Given the description of an element on the screen output the (x, y) to click on. 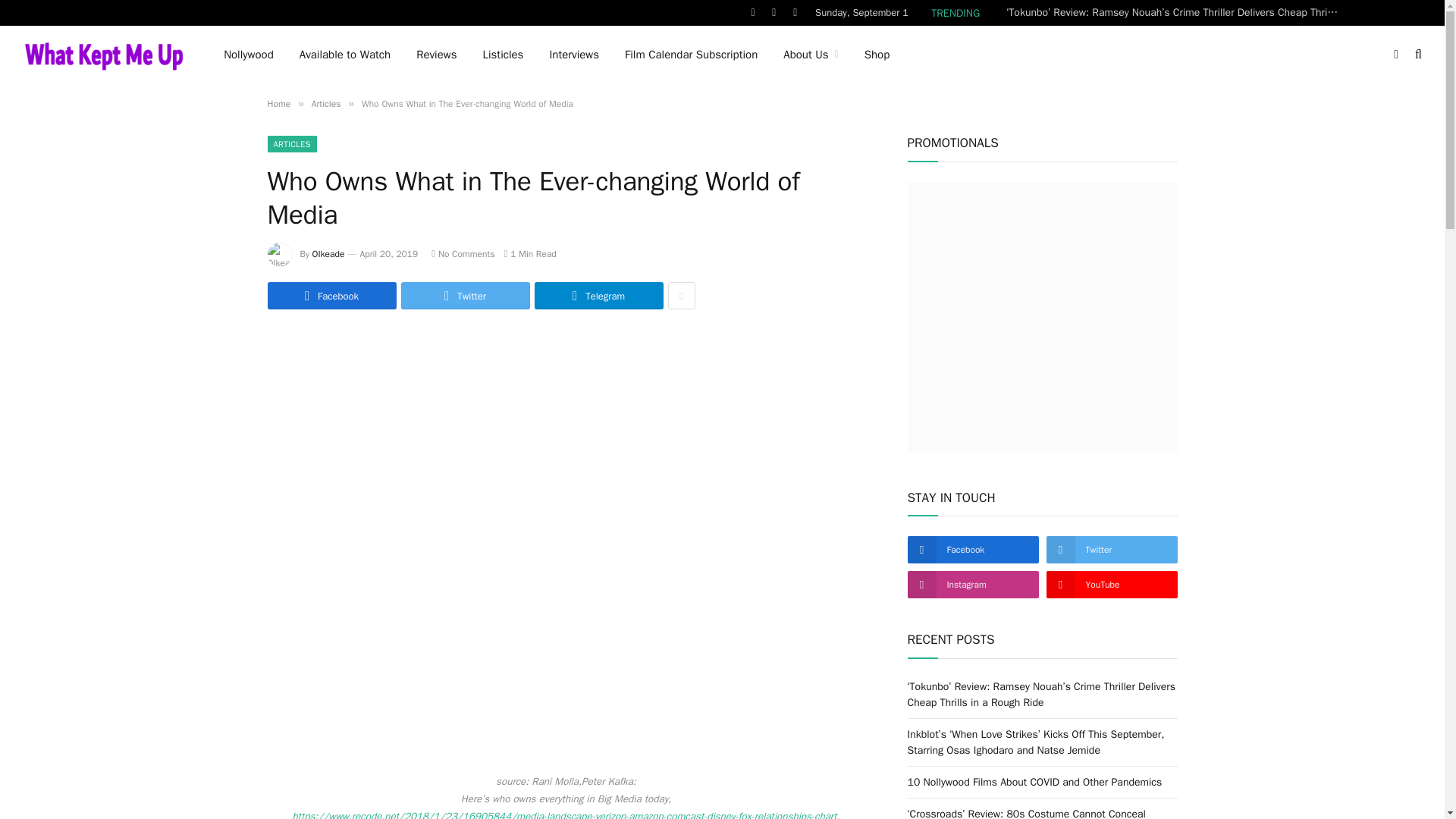
Available to Watch (344, 54)
Share on Facebook (331, 295)
Film Calendar Subscription (690, 54)
Reviews (435, 54)
Home (277, 103)
Articles (325, 103)
Nollywood (248, 54)
Switch to Dark Design - easier on eyes. (1396, 54)
About Us (810, 54)
Share on Telegram (598, 295)
